Given the description of an element on the screen output the (x, y) to click on. 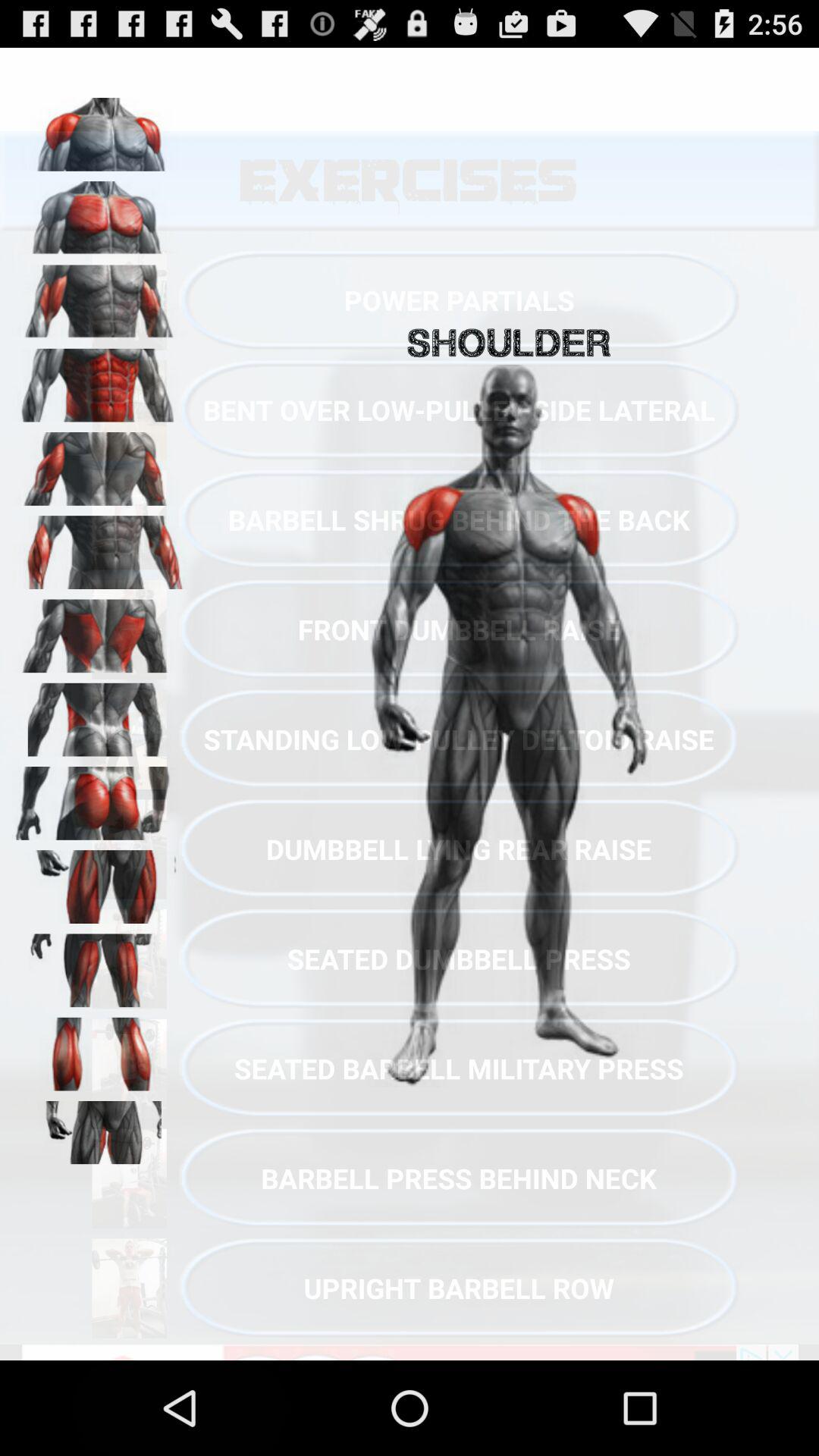
chooses the shoulder option (99, 129)
